Given the description of an element on the screen output the (x, y) to click on. 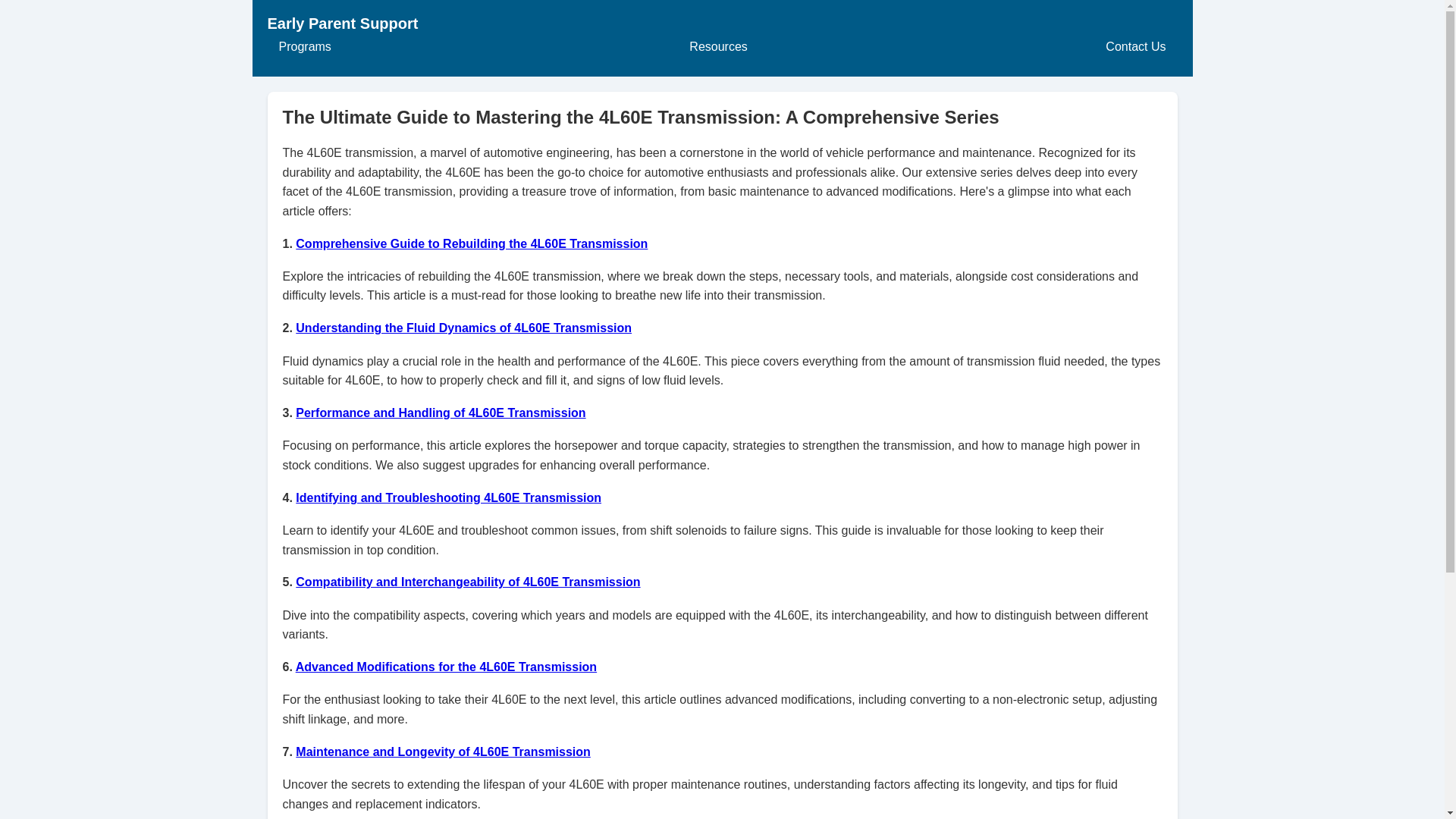
Programs (304, 46)
Advanced Modifications for the 4L60E Transmission (445, 666)
Performance and Handling of 4L60E Transmission (440, 412)
Resources (718, 46)
Maintenance and Longevity of 4L60E Transmission (443, 751)
Contact Us (1135, 46)
Identifying and Troubleshooting 4L60E Transmission (448, 497)
Understanding the Fluid Dynamics of 4L60E Transmission (463, 327)
Comprehensive Guide to Rebuilding the 4L60E Transmission (471, 243)
Compatibility and Interchangeability of 4L60E Transmission (467, 581)
